Given the description of an element on the screen output the (x, y) to click on. 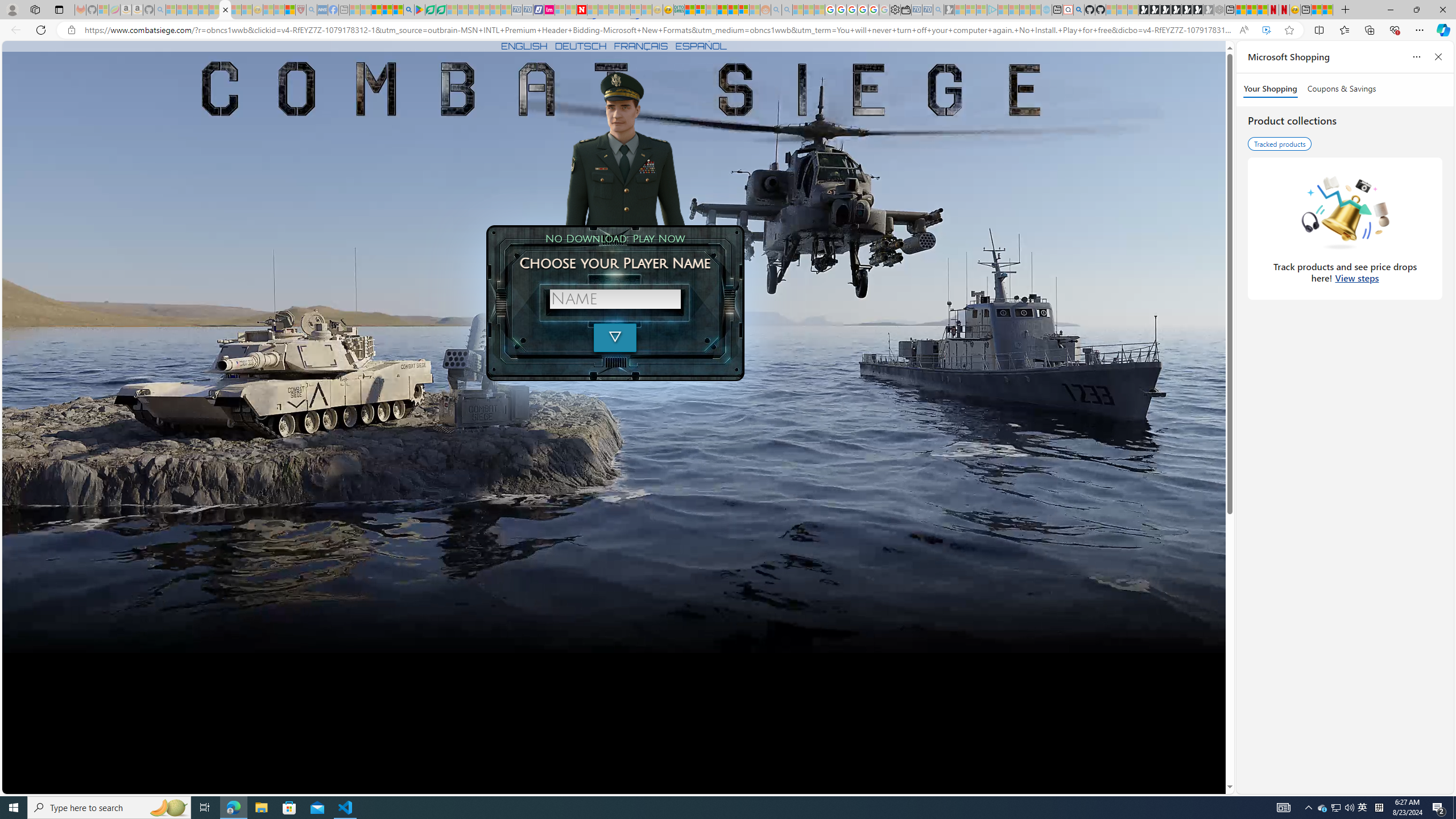
Wallet (905, 9)
Bluey: Let's Play! - Apps on Google Play (419, 9)
Expert Portfolios (721, 9)
